Given the description of an element on the screen output the (x, y) to click on. 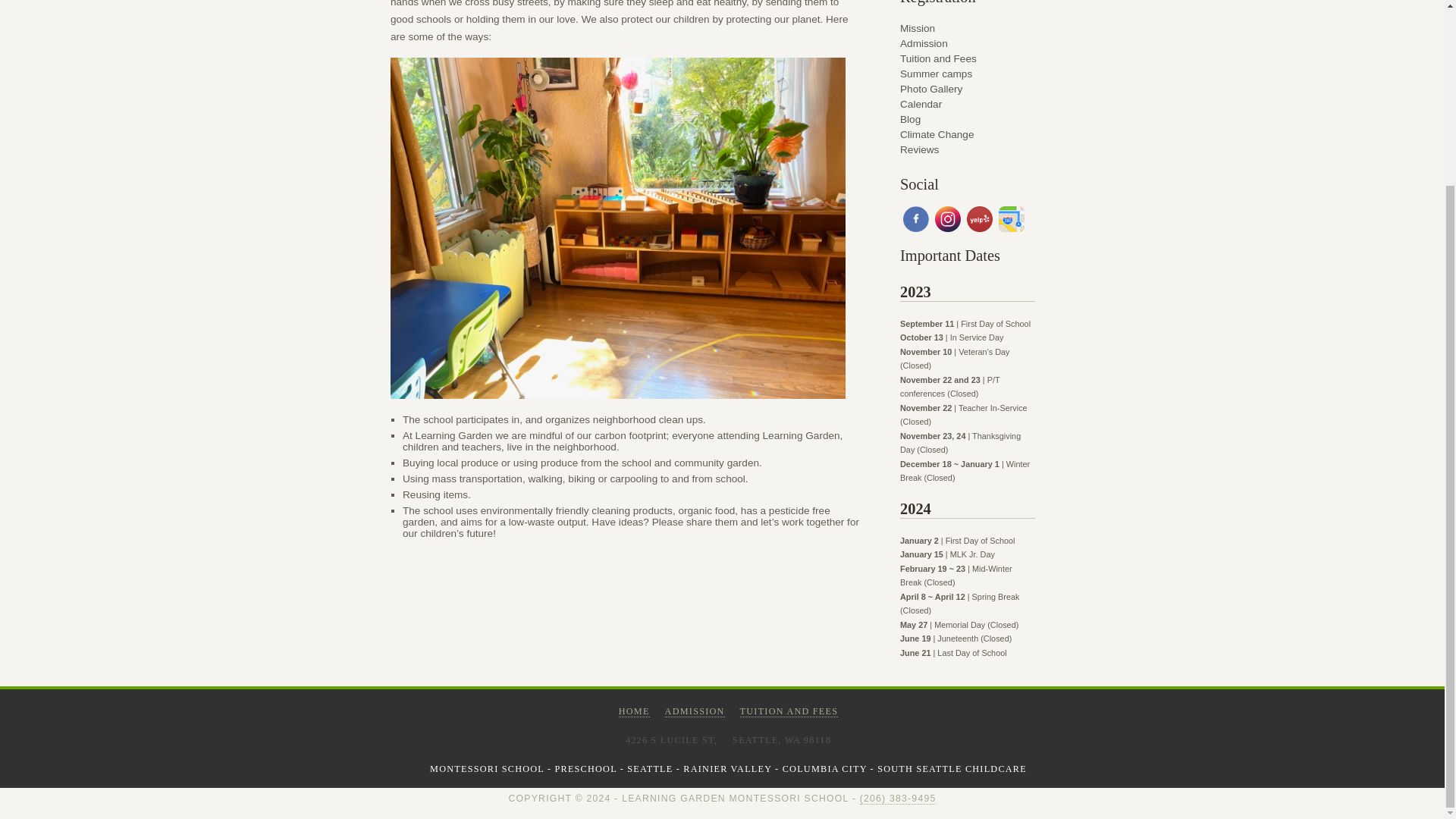
Yelp (979, 220)
Tuition and Fees (967, 56)
Photo Gallery (967, 87)
Instagram (947, 220)
ADMISSION (695, 711)
Blog (967, 117)
Calendar (967, 102)
Map (1011, 220)
TUITION AND FEES (788, 711)
Summer camps (967, 71)
